Given the description of an element on the screen output the (x, y) to click on. 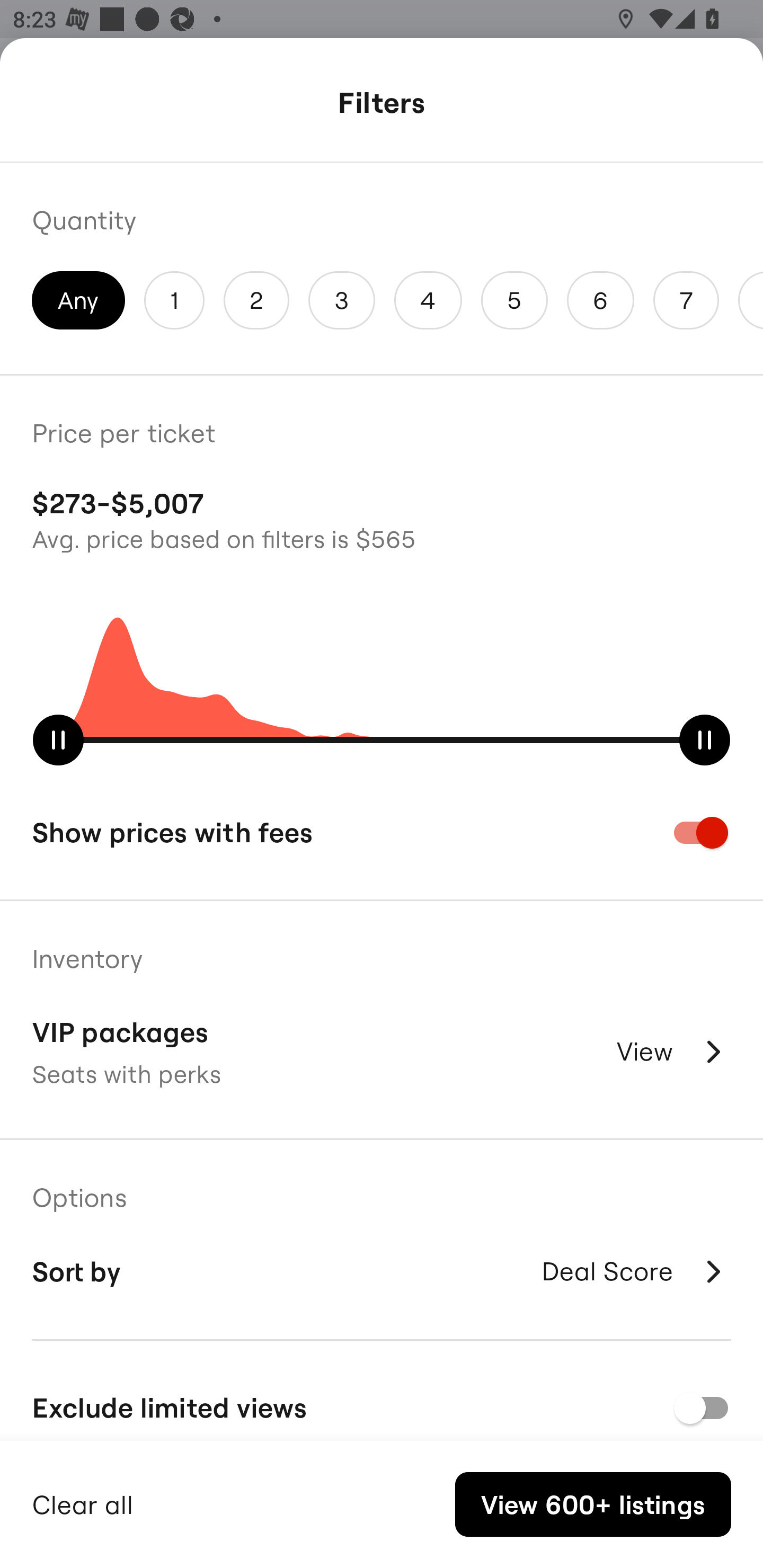
Any (78, 300)
1 (173, 300)
2 (256, 300)
3 (341, 300)
4 (427, 300)
5 (514, 300)
6 (601, 300)
7 (685, 300)
$273-$5,007 Avg. price based on filters is $565 (381, 518)
Show prices with fees (381, 832)
VIP packages Seats with perks View (381, 1052)
Sort by Deal Score (381, 1271)
Exclude limited views (381, 1405)
Clear all (83, 1502)
View 600+ listings (592, 1504)
